Given the description of an element on the screen output the (x, y) to click on. 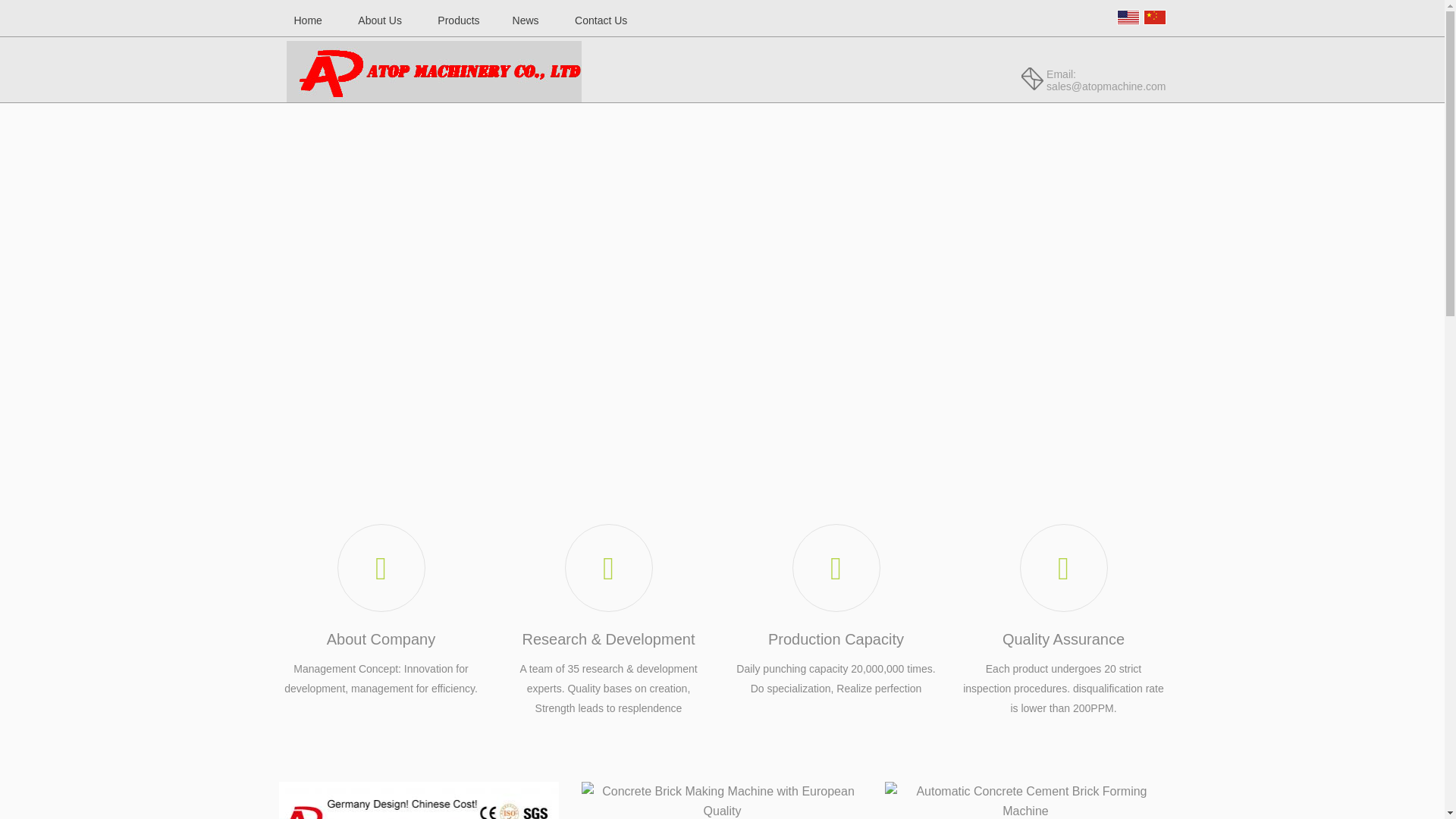
Hydraulic Full-Automatic Concrete Brick Making Machine (419, 800)
Contact Us (600, 20)
Concrete Brick Making Machine with European Quality (720, 800)
News (525, 20)
Home (308, 20)
Automatic Concrete Cement Brick Forming Machine (1025, 800)
Products (458, 20)
About Us (379, 20)
